Given the description of an element on the screen output the (x, y) to click on. 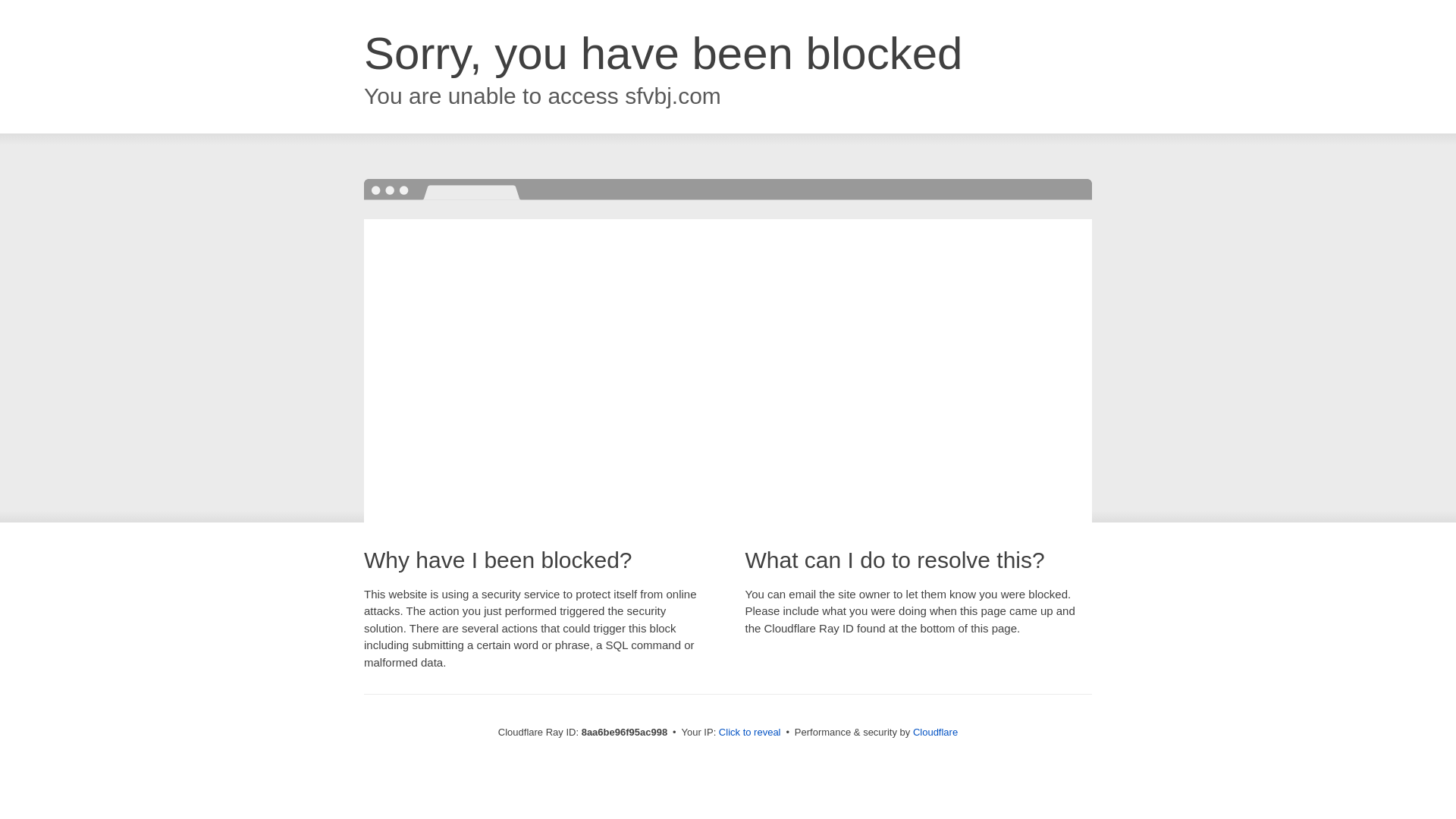
Click to reveal (749, 732)
Cloudflare (935, 731)
